Given the description of an element on the screen output the (x, y) to click on. 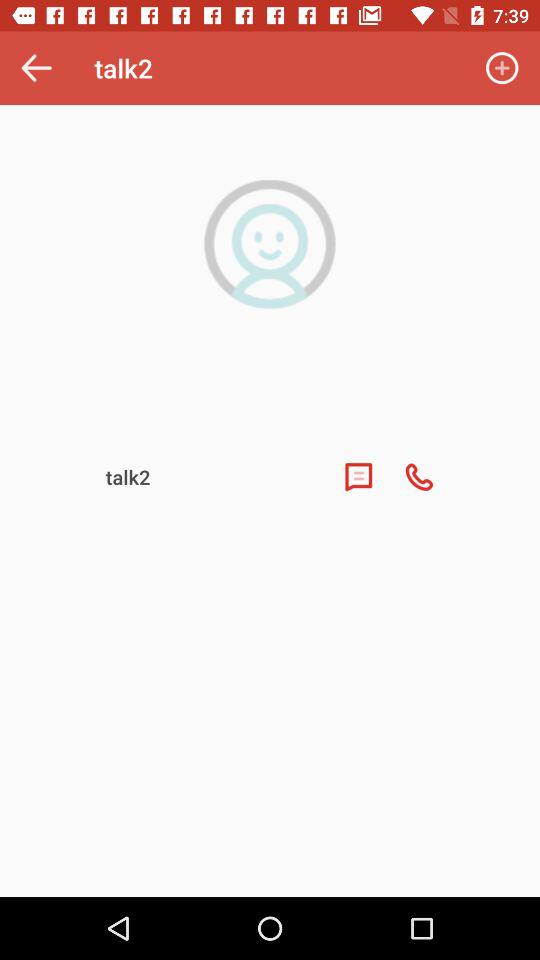
call this contact (419, 477)
